Given the description of an element on the screen output the (x, y) to click on. 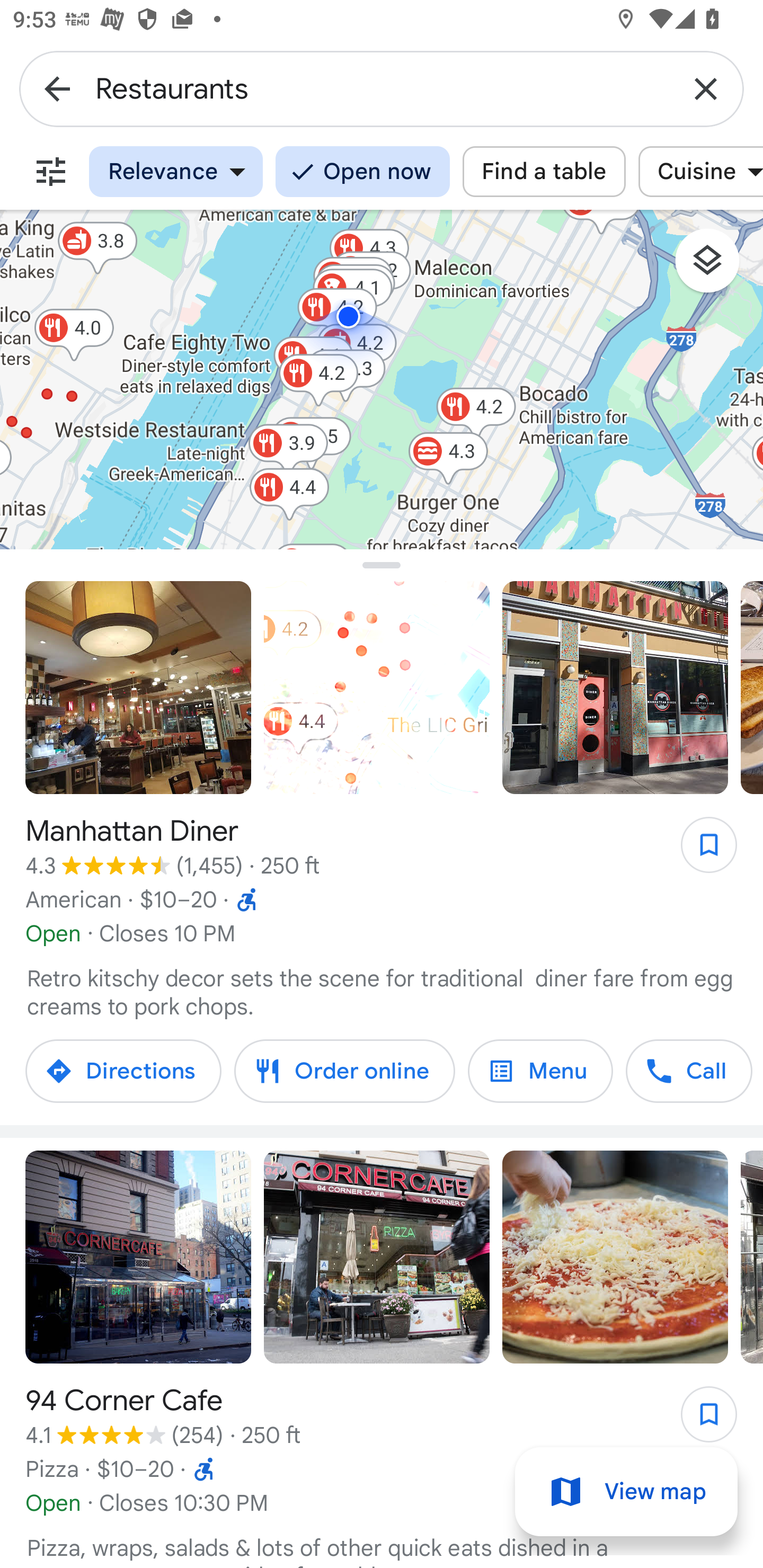
Back (57, 88)
Restaurants (381, 88)
Clear (705, 88)
More filters (50, 171)
Relevance Relevance Relevance (175, 171)
Open now Open now Open now (362, 171)
Find a table Find a table Find a table (543, 171)
Cuisine Cuisine Cuisine (700, 171)
Layers (716, 267)
Photo (138, 687)
Video (376, 687)
Photo (614, 687)
Save Manhattan Diner to lists (699, 851)
Order online Order online Order online (344, 1070)
Manhattan Diner Menu Menu Manhattan Diner Menu (539, 1070)
Photo (138, 1257)
Photo (376, 1257)
Photo (614, 1257)
Save 94 Corner Cafe to lists (699, 1420)
View map Map view (626, 1491)
